Given the description of an element on the screen output the (x, y) to click on. 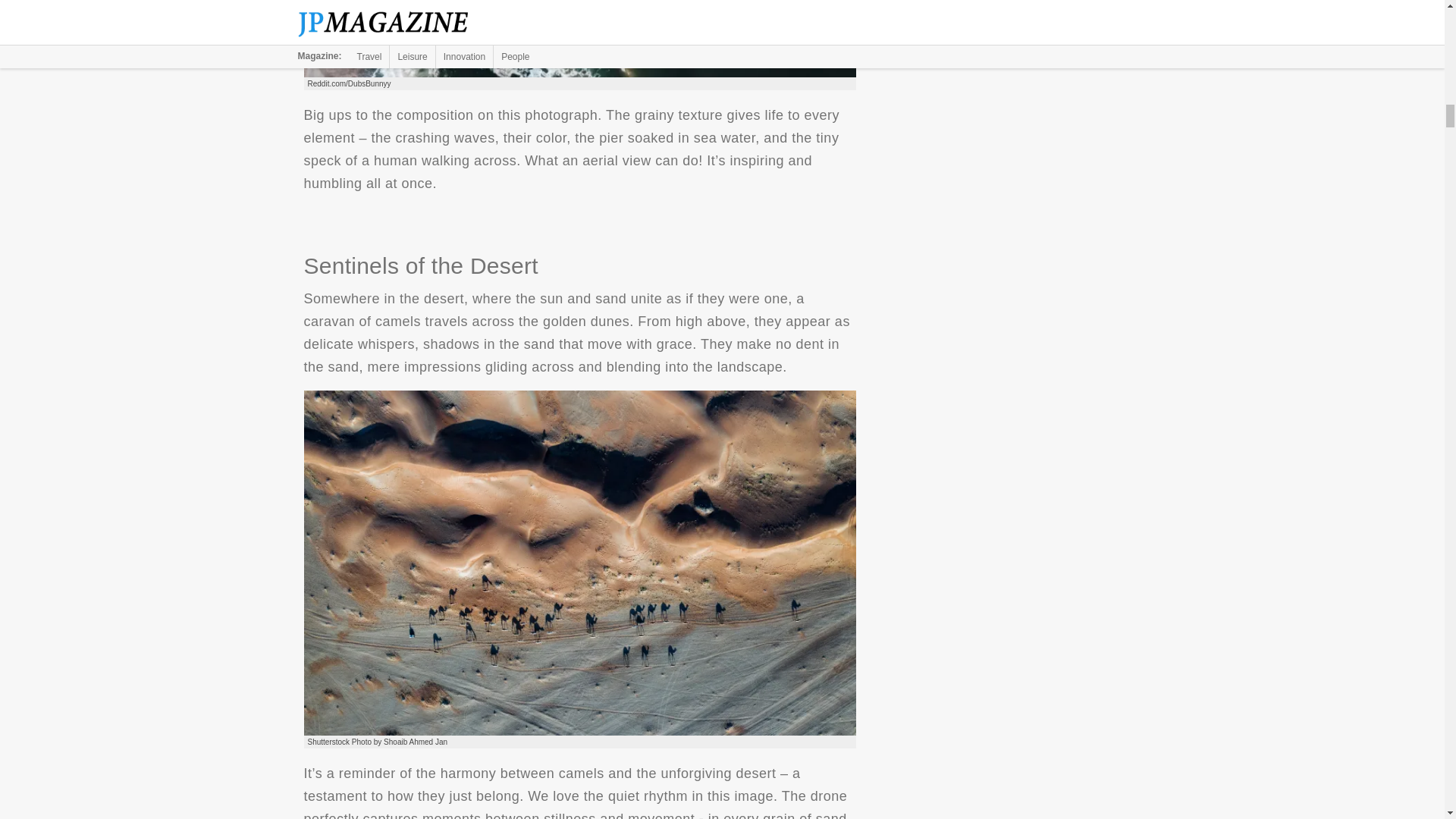
View of a Pier From Above (579, 38)
